Given the description of an element on the screen output the (x, y) to click on. 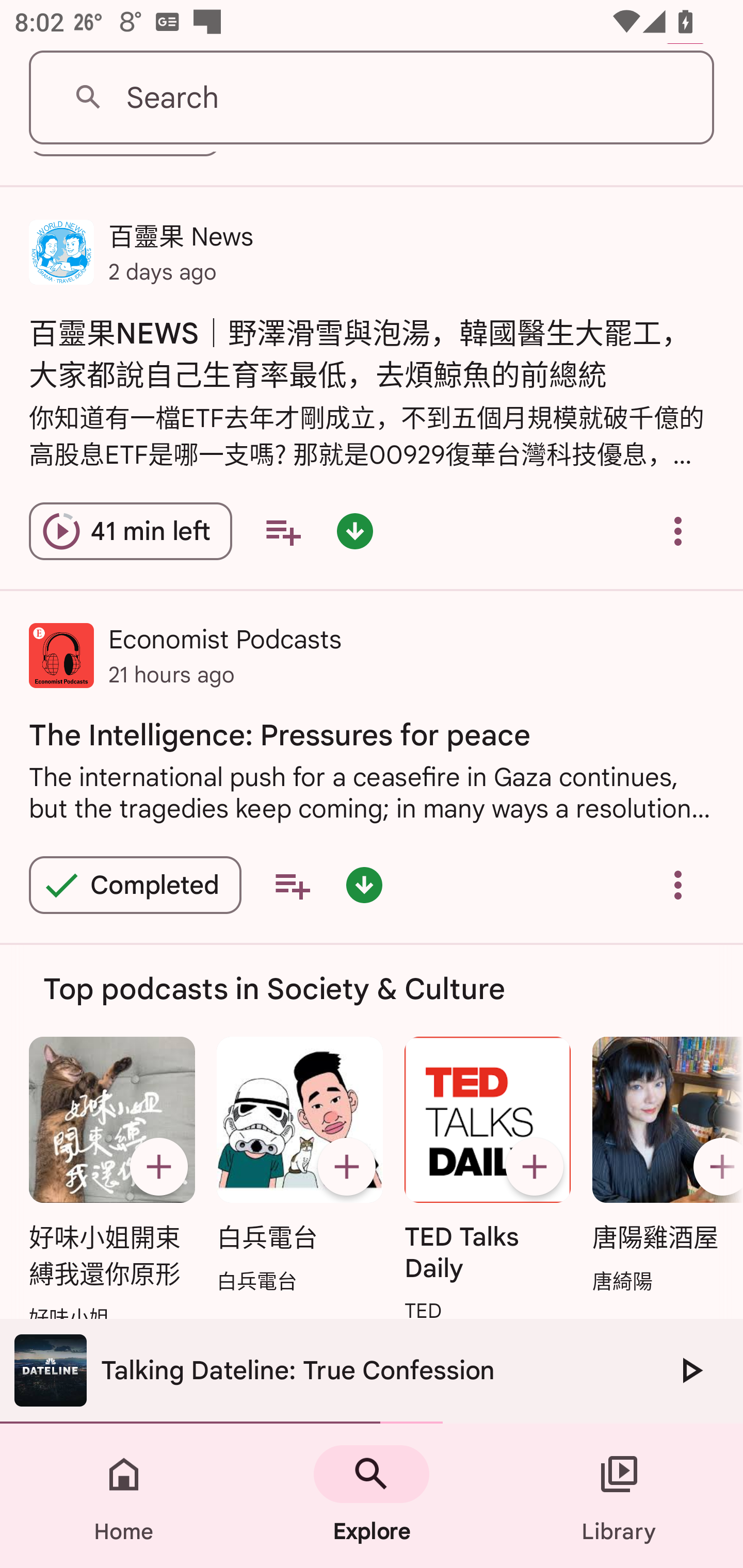
Search (371, 97)
Add to your queue (282, 530)
Episode downloaded - double tap for options (354, 530)
Overflow menu (677, 530)
Add to your queue (291, 885)
Episode downloaded - double tap for options (364, 885)
Overflow menu (677, 885)
好味小姐開束縛我還你原形 Subscribe 好味小姐開束縛我還你原形 好味小姐 (111, 1184)
白兵電台 Subscribe 白兵電台 白兵電台 (299, 1166)
TED Talks Daily Subscribe TED Talks Daily TED (487, 1180)
唐陽雞酒屋 Subscribe 唐陽雞酒屋 唐綺陽 (662, 1166)
Subscribe (158, 1166)
Subscribe (346, 1166)
Subscribe (534, 1166)
Subscribe (714, 1166)
Play (690, 1370)
Home (123, 1495)
Library (619, 1495)
